Given the description of an element on the screen output the (x, y) to click on. 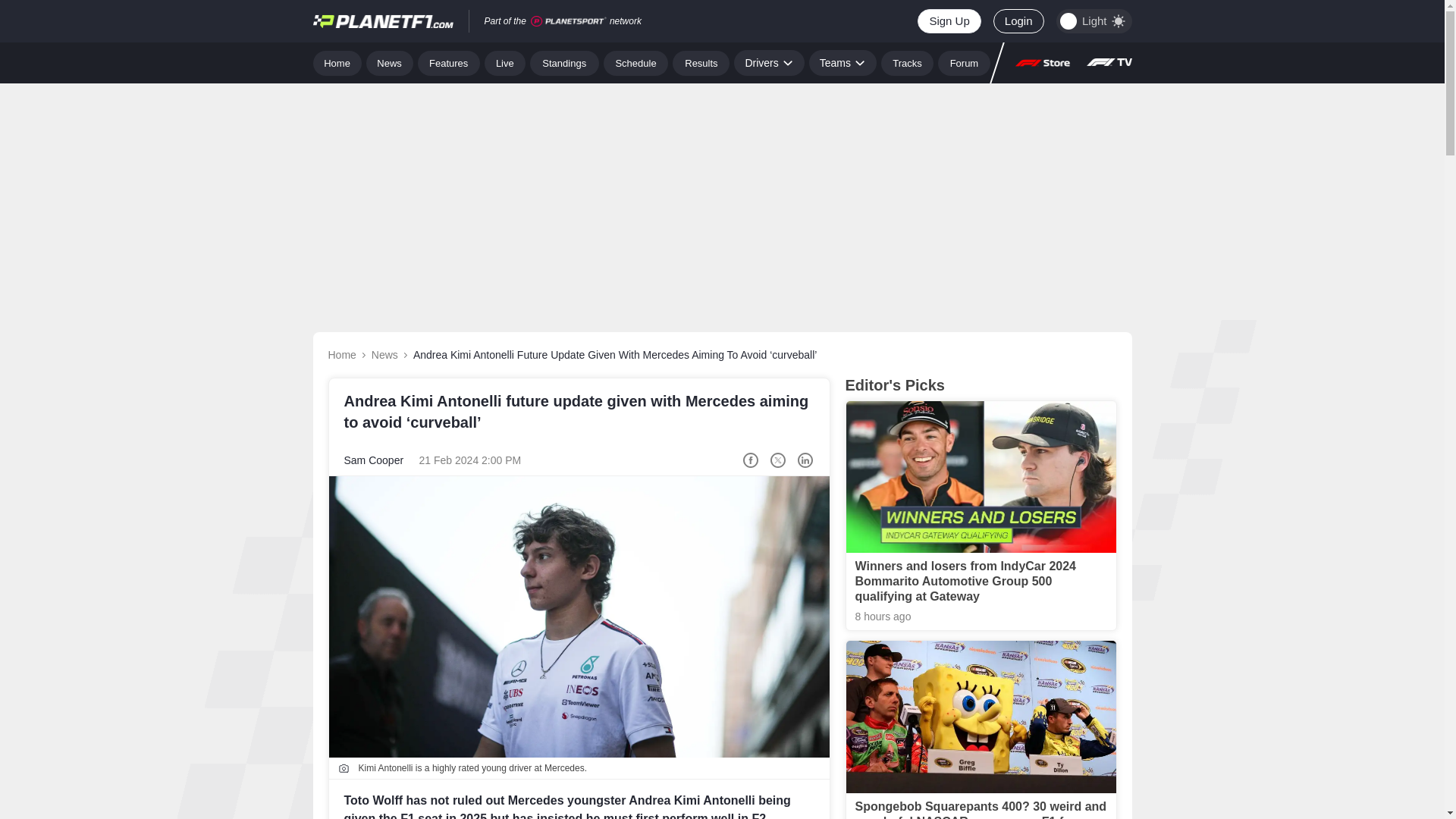
Sign Up (948, 21)
Login (1017, 21)
Teams (842, 62)
Drivers (768, 62)
Home (337, 62)
Features (448, 62)
News (389, 62)
Results (700, 62)
Live (504, 62)
Schedule (636, 62)
